Given the description of an element on the screen output the (x, y) to click on. 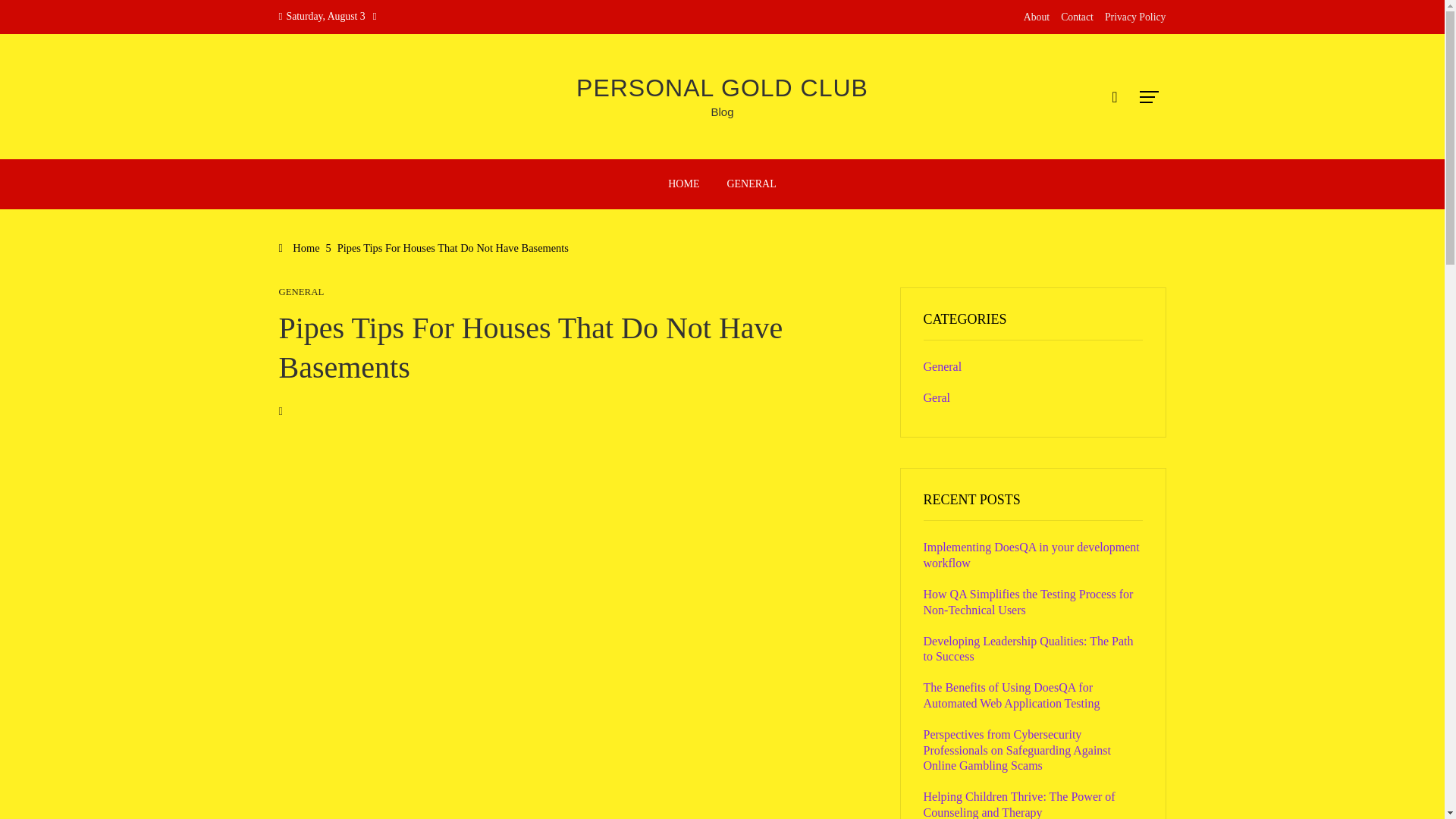
HOME (683, 183)
Blog (721, 111)
PERSONAL GOLD CLUB (721, 87)
Developing Leadership Qualities: The Path to Success (1028, 648)
Contact (1077, 17)
Implementing DoesQA in your development workflow (1031, 554)
Geral (936, 397)
Home (299, 247)
Privacy Policy (1135, 17)
Helping Children Thrive: The Power of Counseling and Therapy (1019, 804)
GENERAL (750, 183)
GENERAL (301, 292)
